Given the description of an element on the screen output the (x, y) to click on. 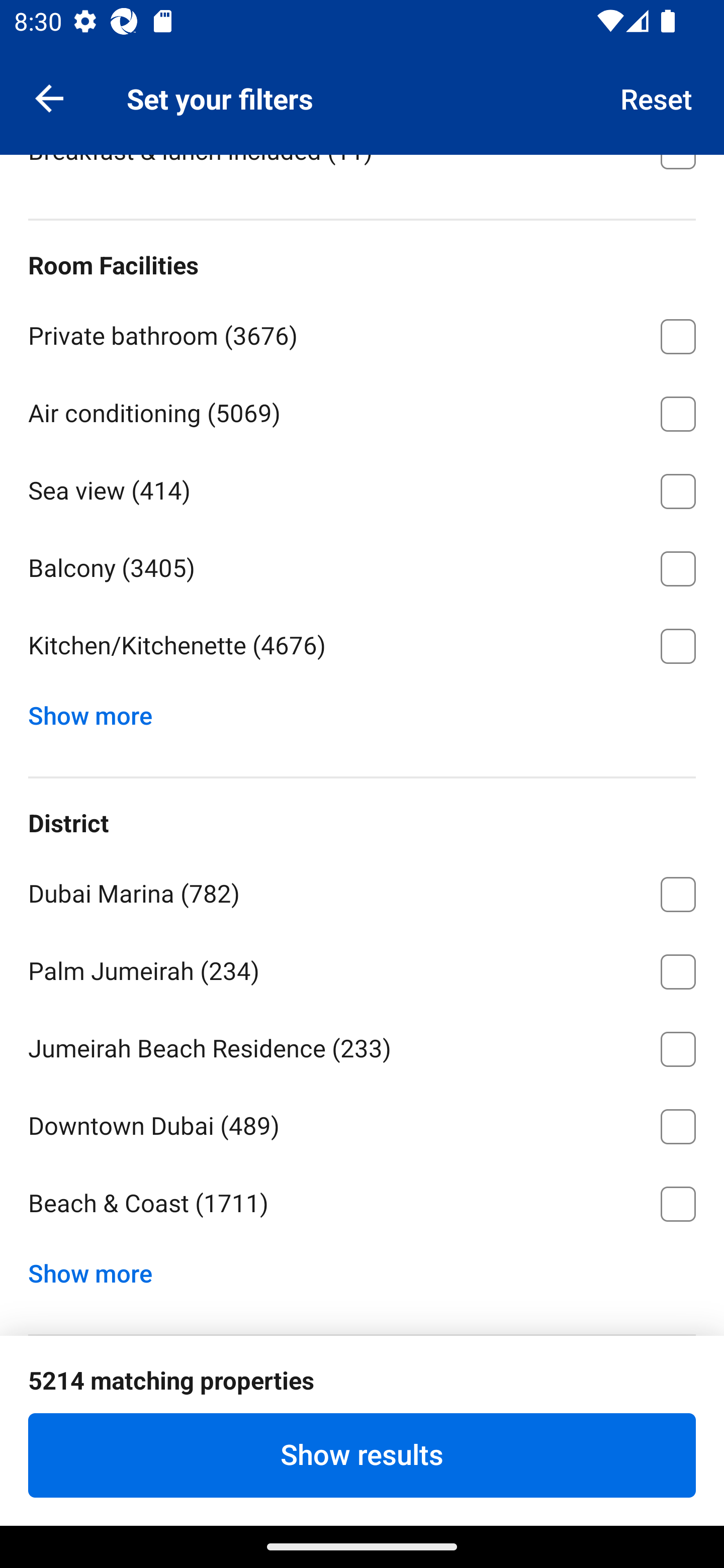
Navigate up (49, 97)
Reset (656, 97)
Private bathroom ⁦(3676) (361, 332)
Air conditioning ⁦(5069) (361, 410)
Sea view ⁦(414) (361, 488)
Balcony ⁦(3405) (361, 564)
Kitchen/Kitchenette ⁦(4676) (361, 645)
Show more (97, 710)
Dubai Marina ⁦(782) (361, 890)
Palm Jumeirah ⁦(234) (361, 967)
Jumeirah Beach Residence ⁦(233) (361, 1045)
Downtown Dubai ⁦(489) (361, 1123)
Beach & Coast ⁦(1711) (361, 1203)
Show more (97, 1269)
Show results (361, 1454)
